Given the description of an element on the screen output the (x, y) to click on. 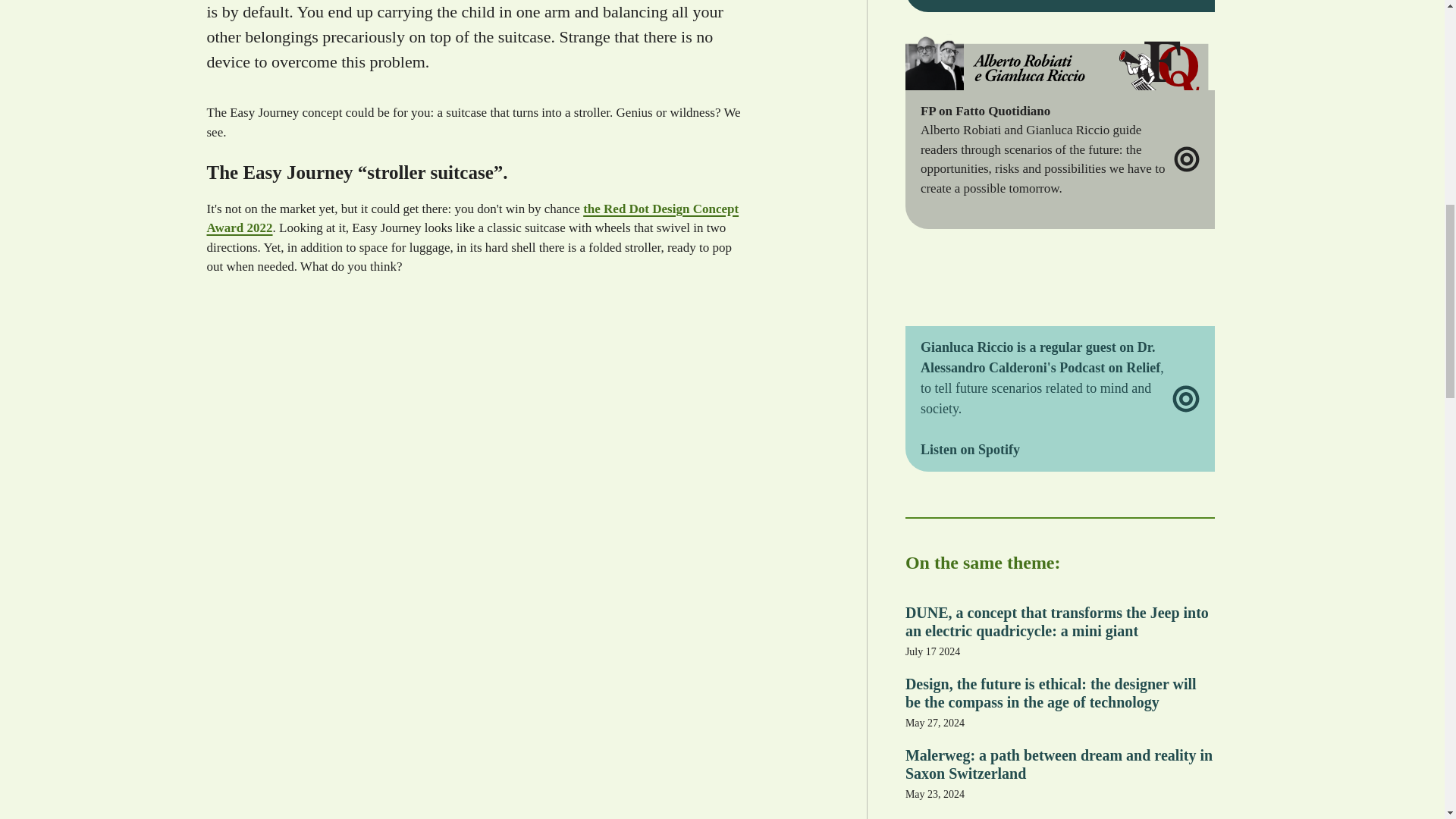
PODCAST (1056, 289)
